Given the description of an element on the screen output the (x, y) to click on. 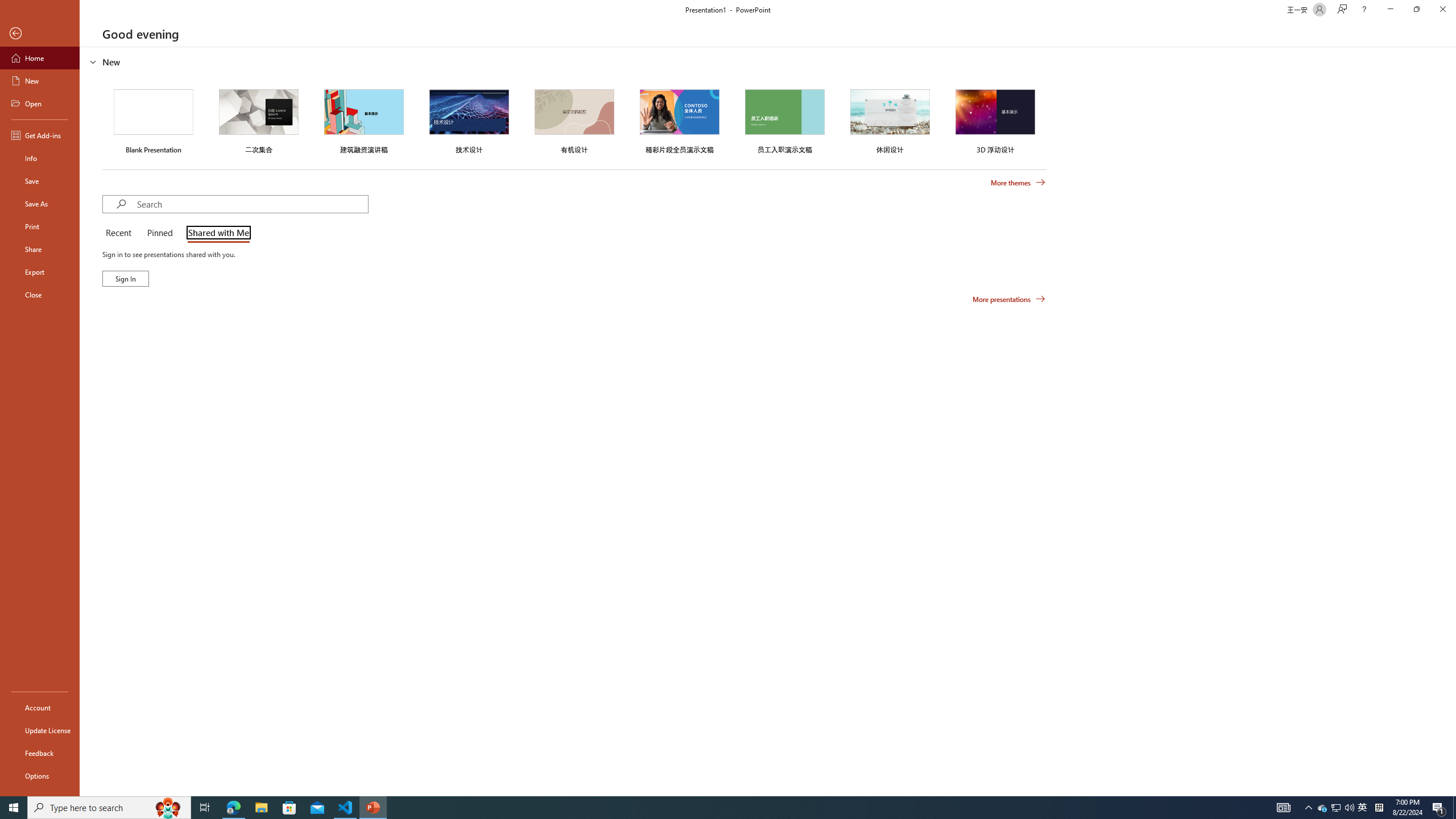
Account (40, 707)
Hide or show region (92, 61)
More themes (1018, 182)
Shared with Me (215, 233)
Print (40, 225)
